Given the description of an element on the screen output the (x, y) to click on. 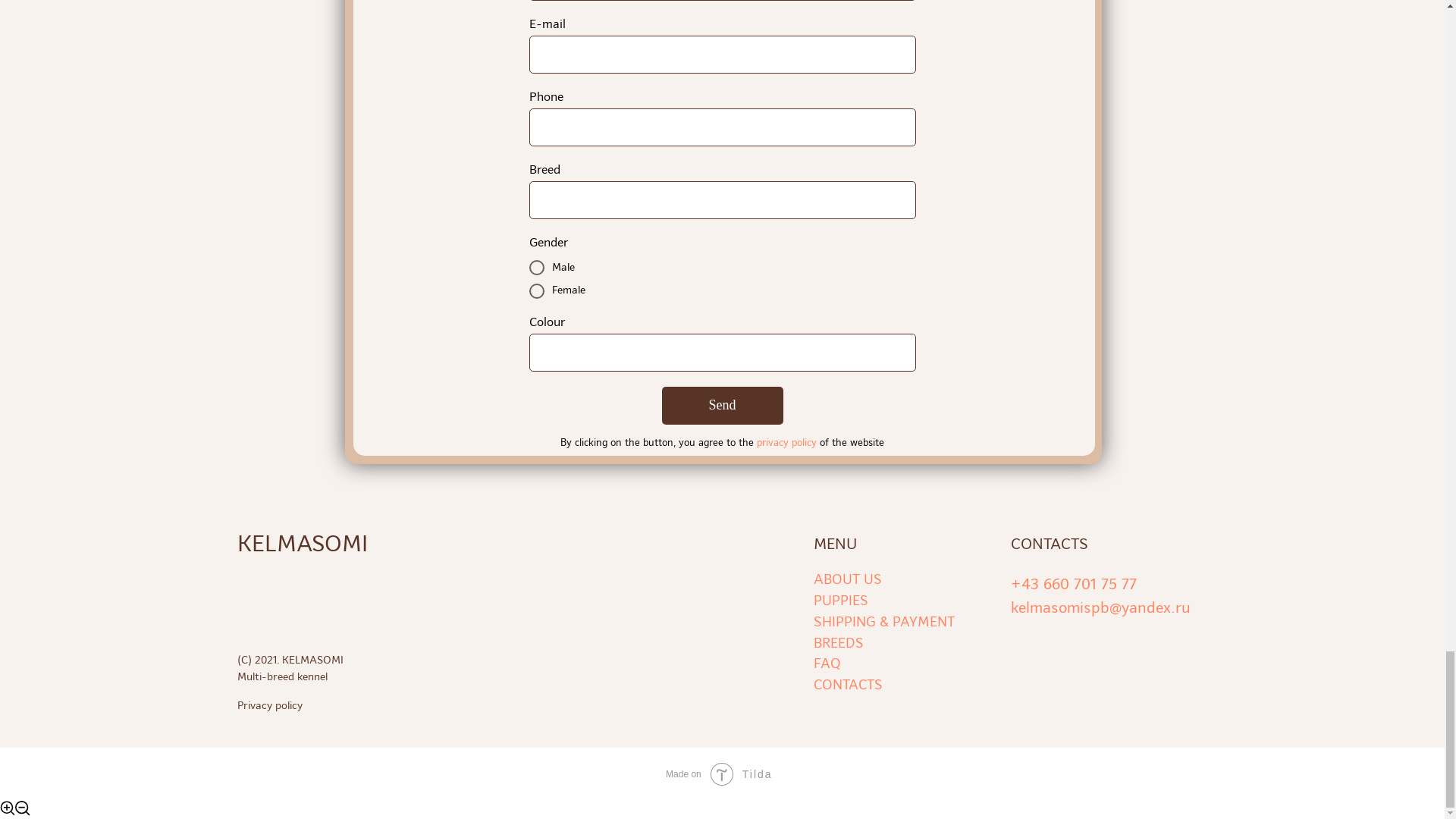
FAQ (826, 662)
ABOUT US (846, 579)
BREEDS (837, 641)
PUPPIES (839, 600)
privacy policy (786, 441)
Privacy policy (353, 705)
CONTACTS (847, 683)
KELMASOMI (315, 543)
Send (722, 405)
